Given the description of an element on the screen output the (x, y) to click on. 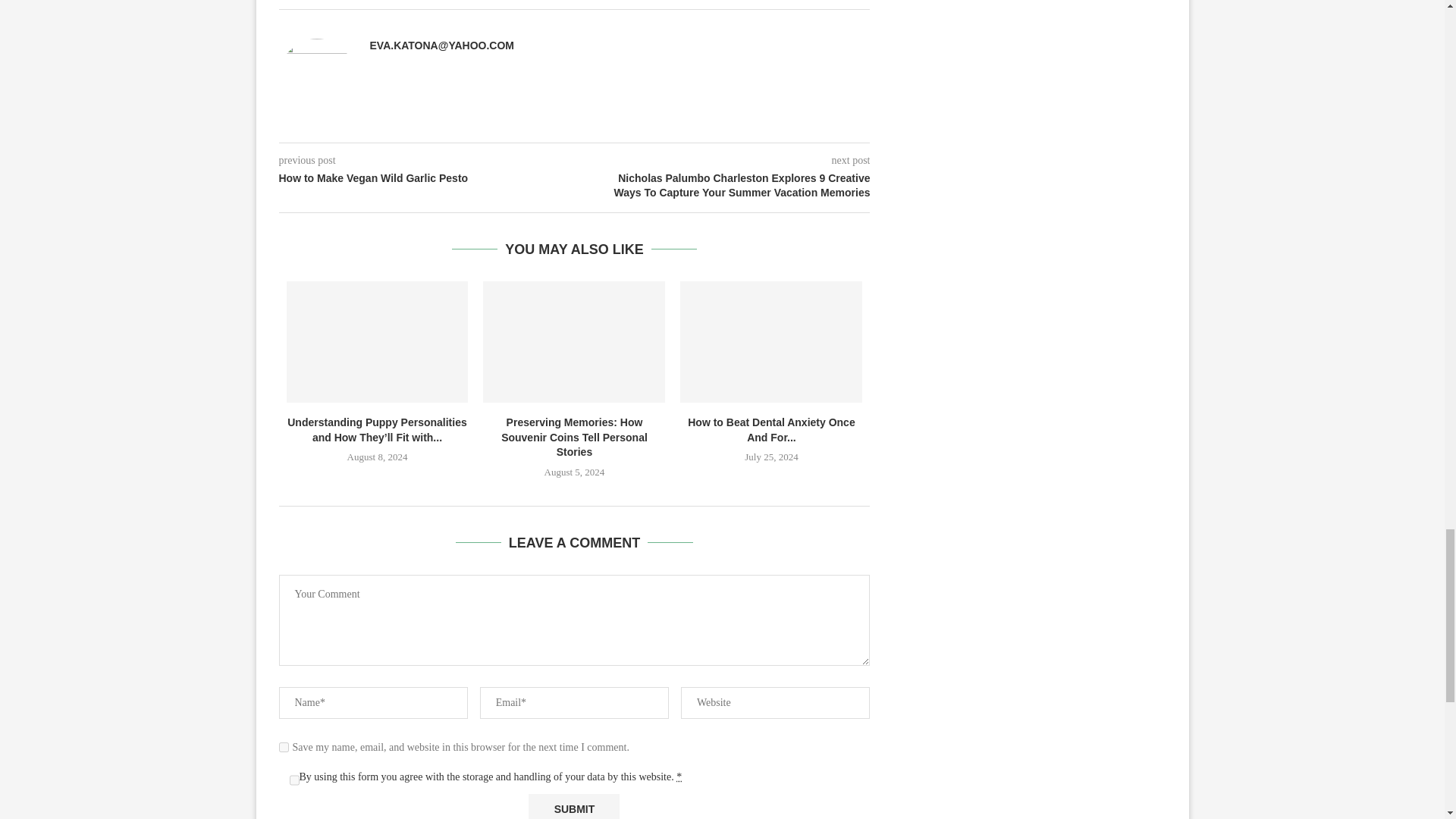
How to Beat Dental Anxiety Once And For All (770, 341)
Submit (574, 806)
yes (283, 747)
How to Make Vegan Wild Garlic Pesto (427, 178)
